Given the description of an element on the screen output the (x, y) to click on. 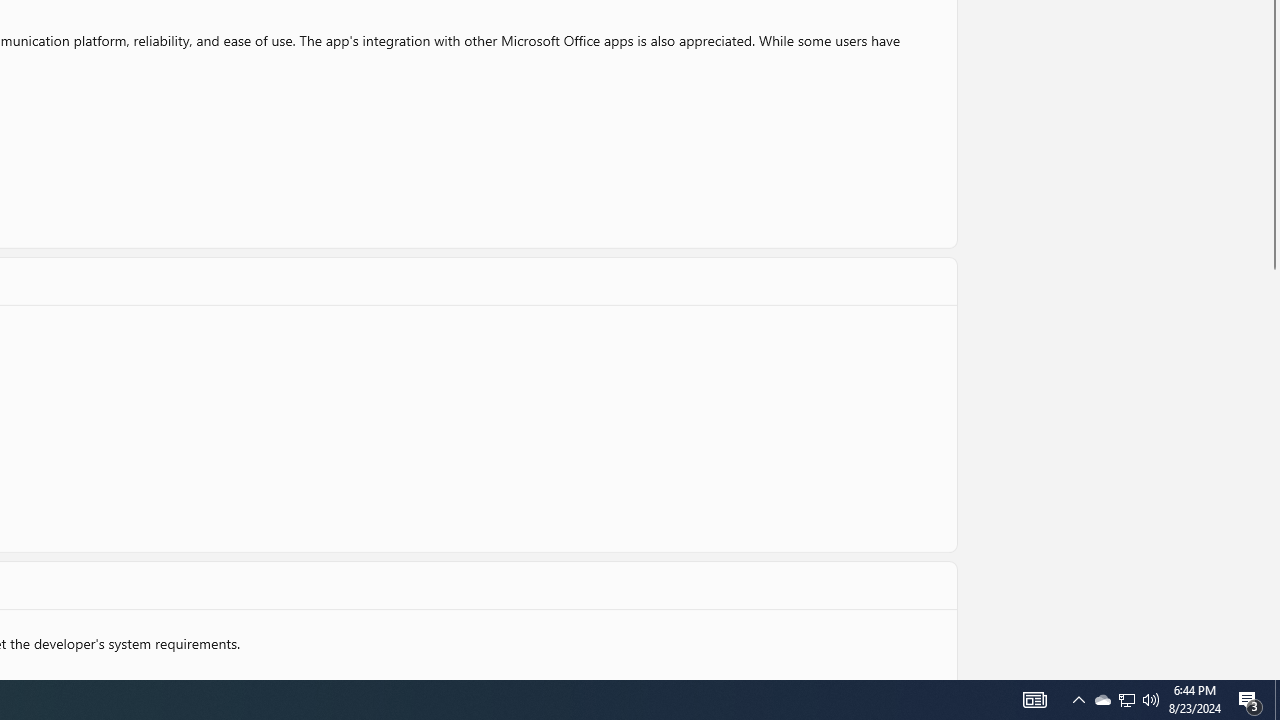
Vertical Small Increase (1272, 672)
Vertical Large Increase (1272, 469)
